Given the description of an element on the screen output the (x, y) to click on. 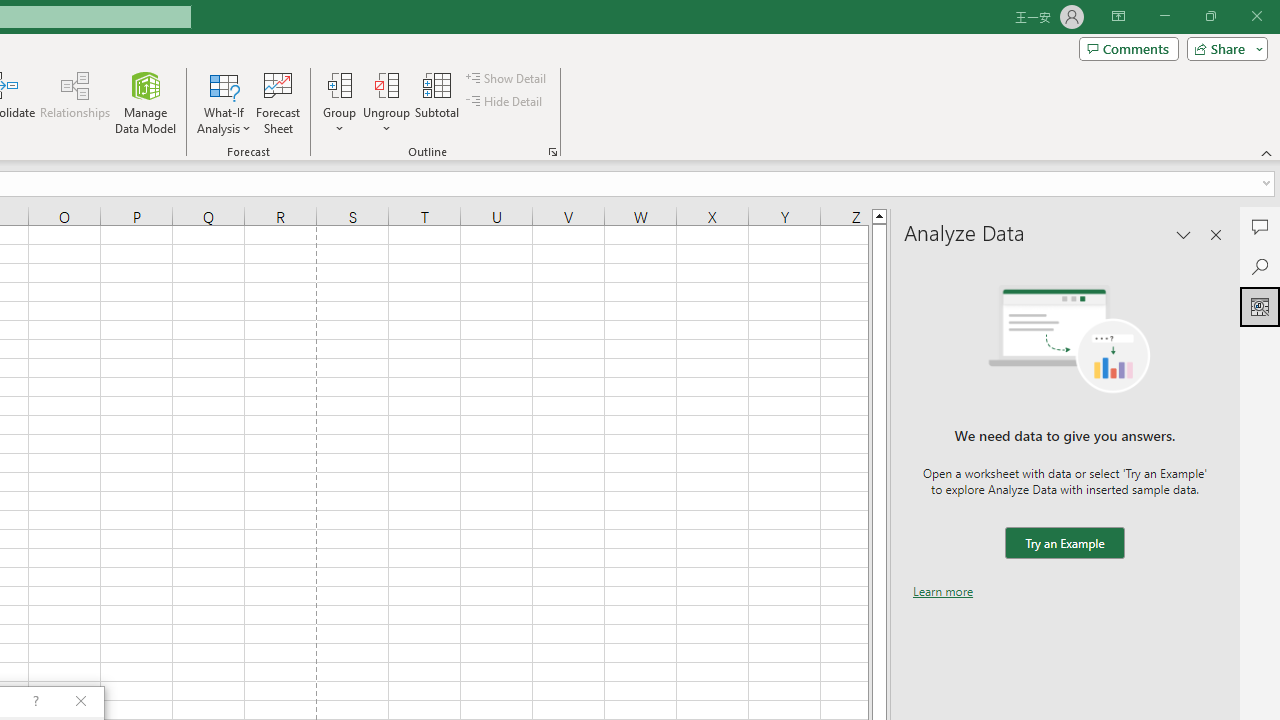
Relationships (75, 102)
Hide Detail (505, 101)
Forecast Sheet (278, 102)
Learn more (943, 591)
Manage Data Model (145, 102)
We need data to give you answers. Try an Example (1064, 543)
Subtotal (437, 102)
